Given the description of an element on the screen output the (x, y) to click on. 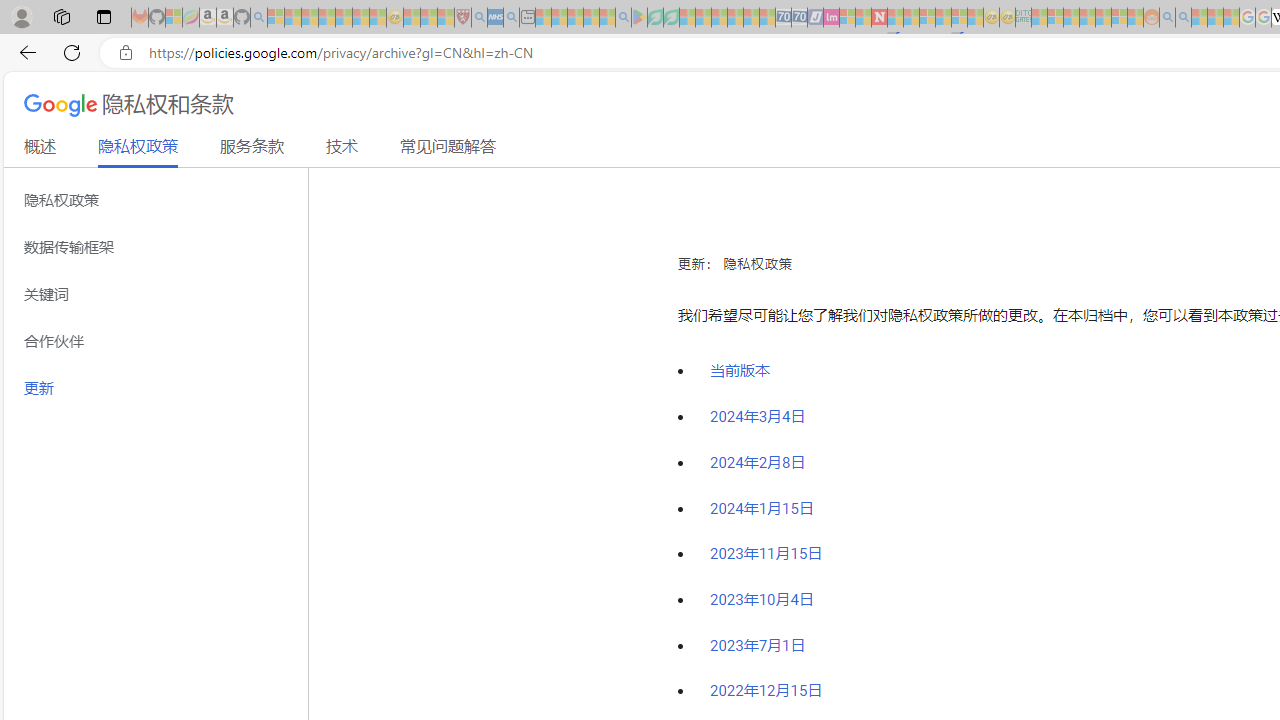
list of asthma inhalers uk - Search - Sleeping (479, 17)
NCL Adult Asthma Inhaler Choice Guideline - Sleeping (495, 17)
Bluey: Let's Play! - Apps on Google Play - Sleeping (639, 17)
